Given the description of an element on the screen output the (x, y) to click on. 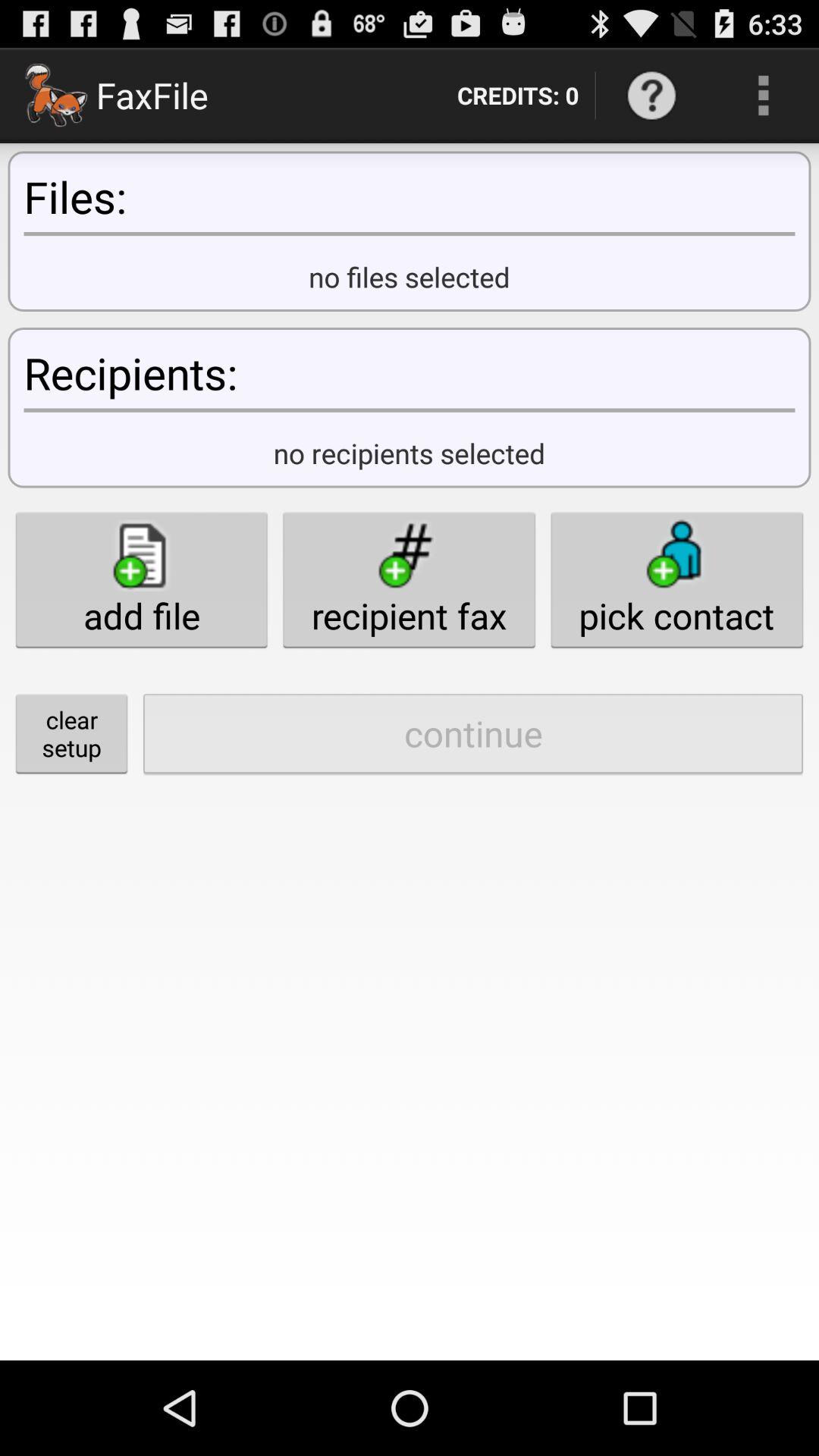
press button to the right of the add file icon (409, 579)
